Given the description of an element on the screen output the (x, y) to click on. 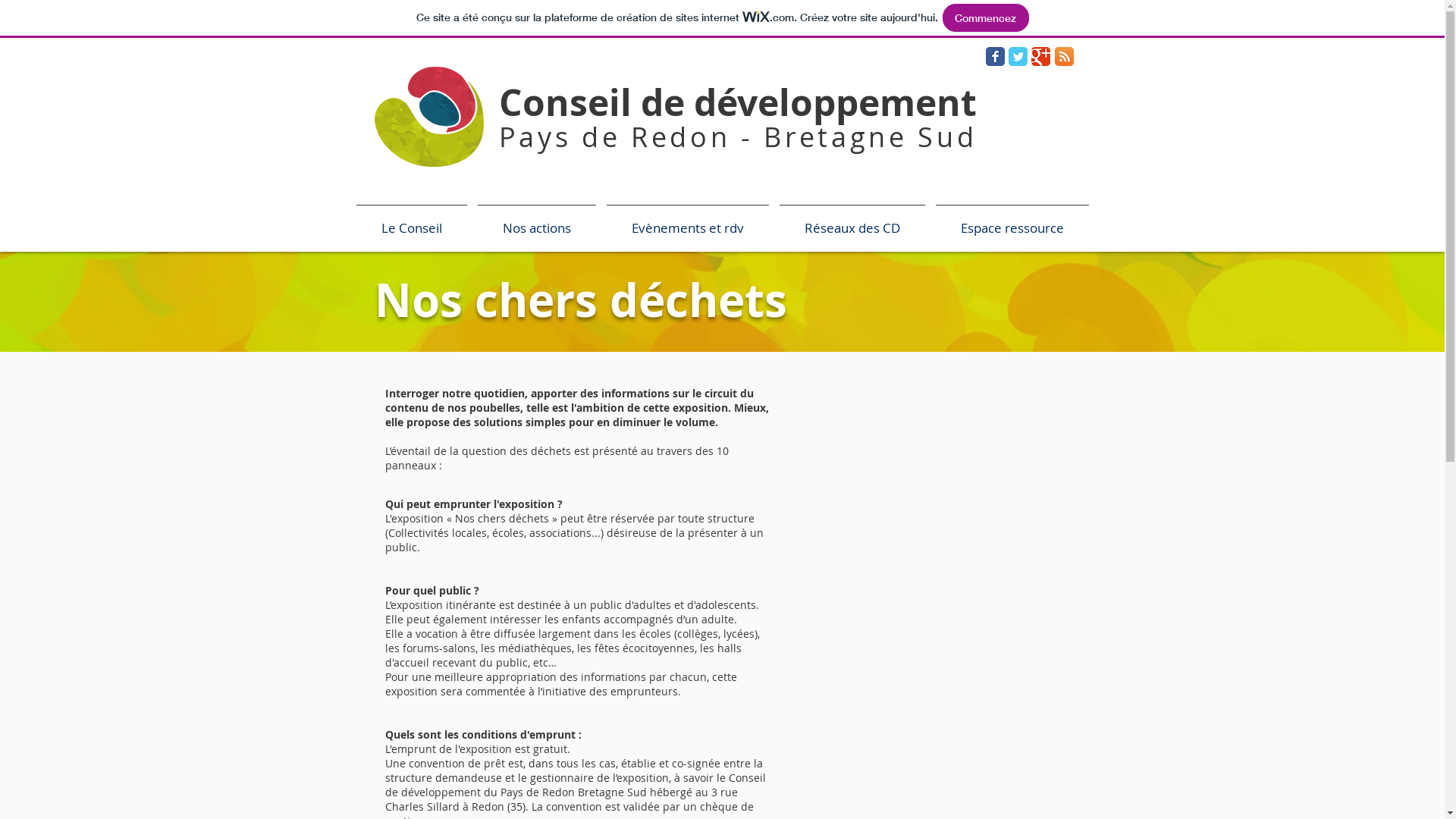
Pays de Redon - Bretagne Sud Element type: text (737, 136)
Espace ressource Element type: text (1011, 220)
Flux RSS Element type: hover (1064, 56)
LogoTextureTriTran.png Element type: hover (428, 115)
Le Conseil Element type: text (410, 220)
